Given the description of an element on the screen output the (x, y) to click on. 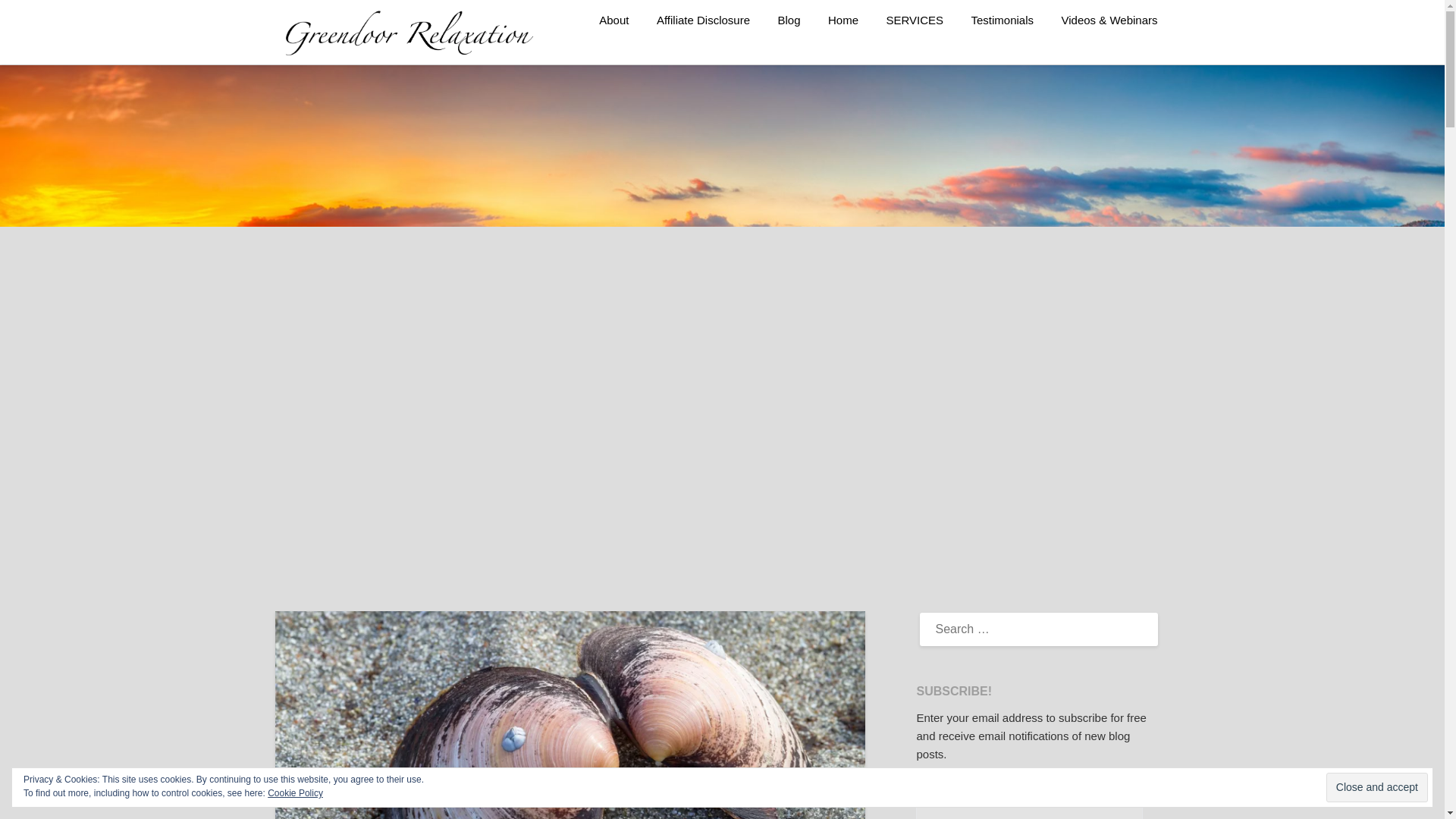
Home (842, 20)
Affiliate Disclosure (703, 20)
About (613, 20)
SERVICES (914, 20)
Blog (788, 20)
Testimonials (1001, 20)
Close and accept (1377, 787)
